Given the description of an element on the screen output the (x, y) to click on. 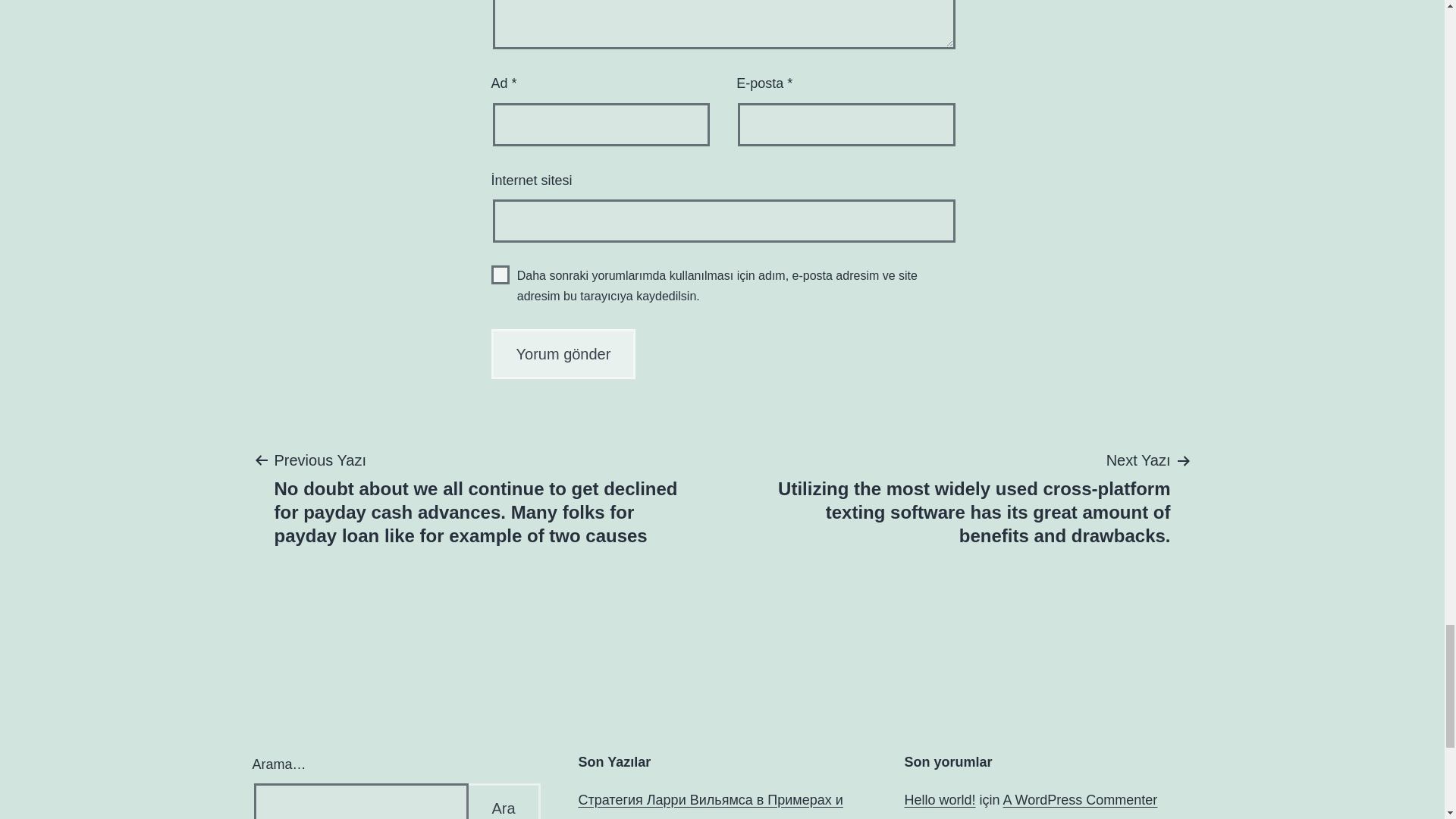
yes (500, 274)
Ara (502, 800)
A WordPress Commenter (1080, 799)
Hello world! (939, 799)
Ara (502, 800)
Ara (502, 800)
